Given the description of an element on the screen output the (x, y) to click on. 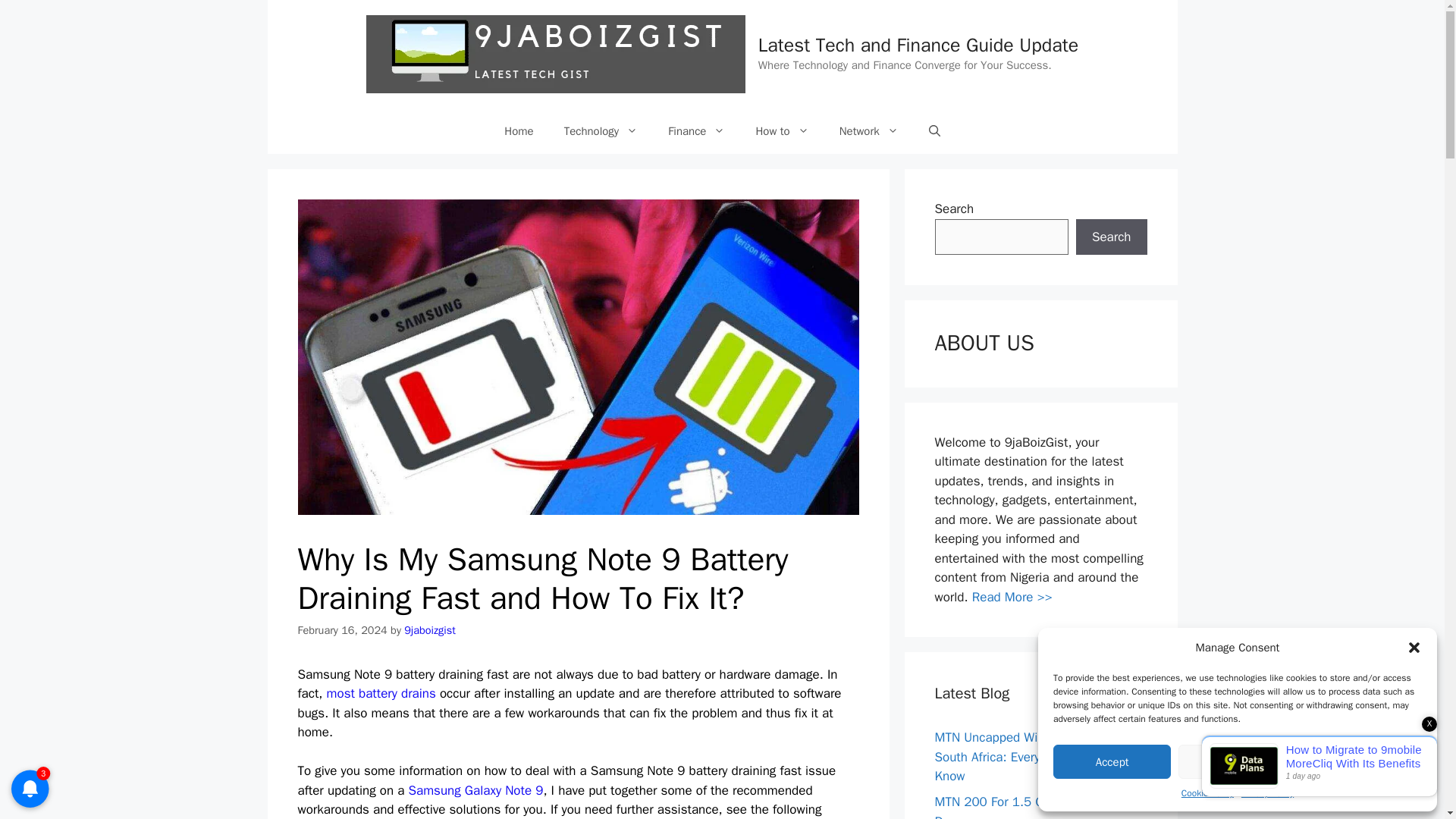
Home (518, 130)
How to (781, 130)
most battery drains (380, 693)
Latest Tech and Finance Guide Update (918, 44)
9jaboizgist (429, 630)
Network (869, 130)
View all posts by 9jaboizgist (429, 630)
View preferences (1363, 761)
Finance (695, 130)
Privacy Policy (1267, 793)
Technology (600, 130)
Deny (1236, 761)
Accept (1111, 761)
Cookie Policy (1206, 793)
